Given the description of an element on the screen output the (x, y) to click on. 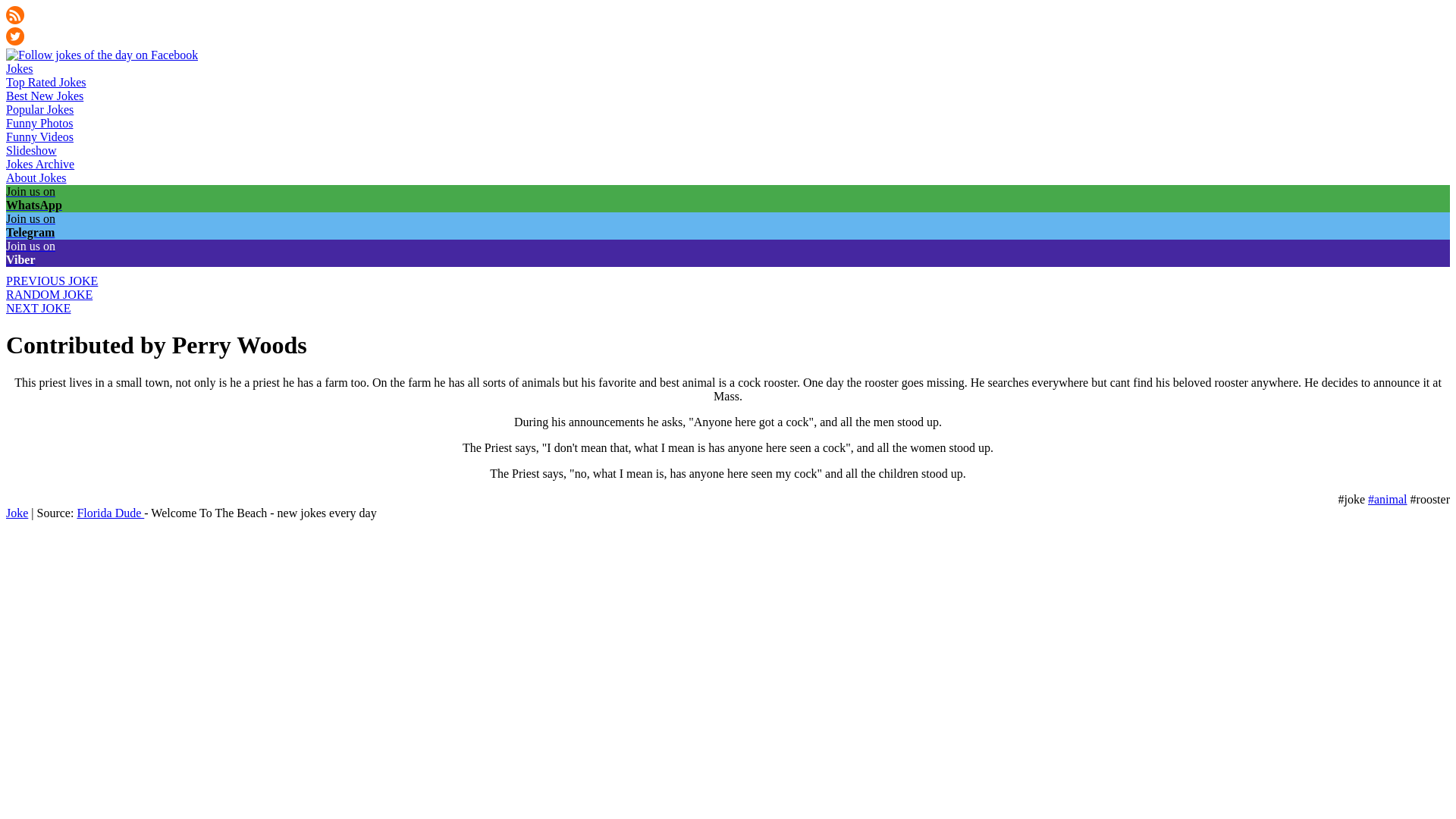
Slideshow (30, 150)
Jokes Archive (39, 164)
The Best Jokes - top rated jokes (45, 82)
The best jokes in the last 4 weeks (43, 95)
Best New Jokes (43, 95)
Jokes Archive (39, 164)
Jokes (19, 68)
Funny Videos (39, 136)
Jokes of the day on RSS feed (14, 19)
Funny Photos (38, 123)
Top Rated Jokes (45, 82)
Funny Videos (39, 136)
About Jokes (35, 177)
Popular Jokes (39, 109)
